Given the description of an element on the screen output the (x, y) to click on. 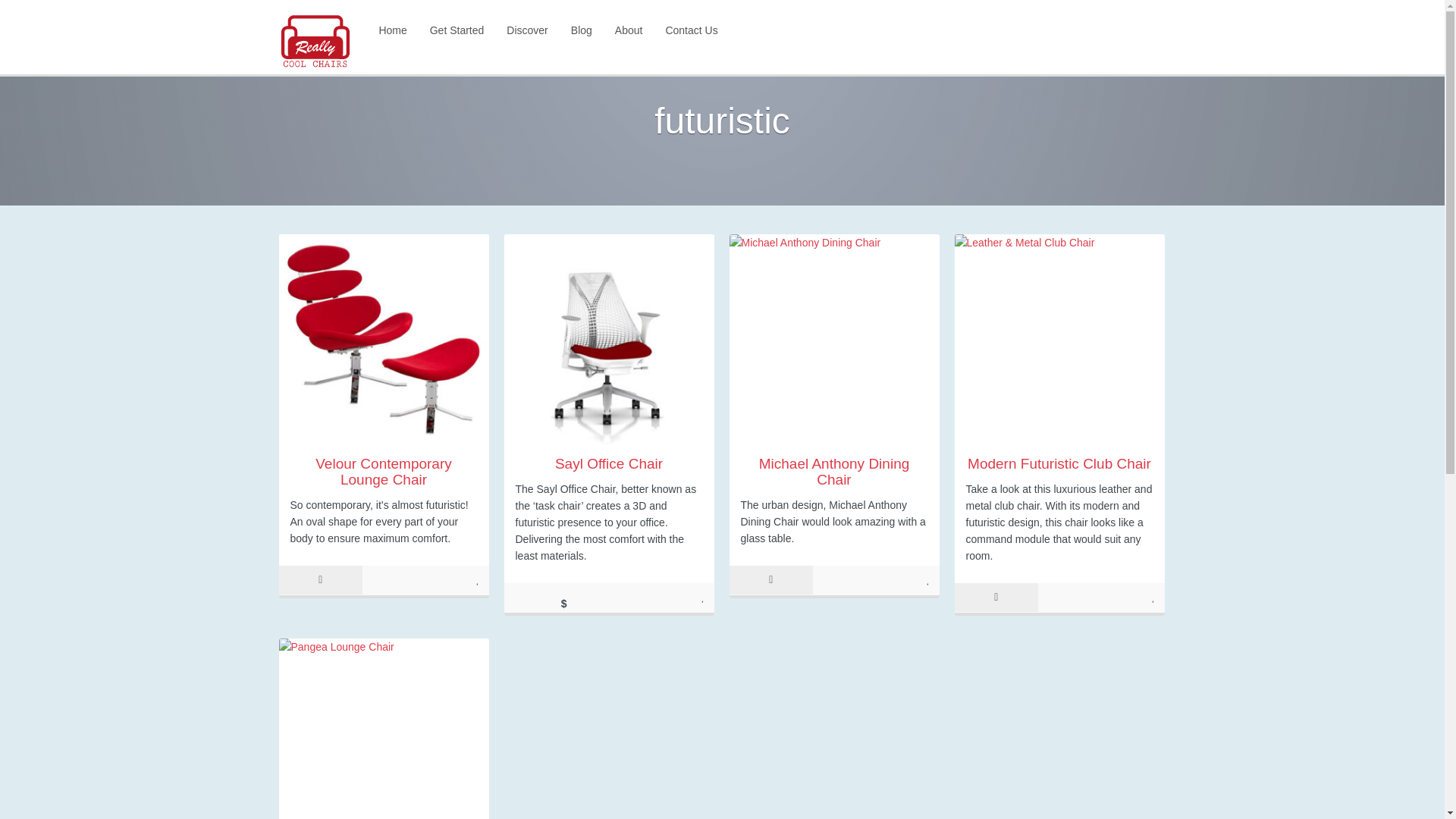
Read our latest posts (581, 29)
Go to Really Cool Chairs homepage (391, 29)
Blog (581, 29)
Michael Anthony Dining Chair (834, 471)
0 (1153, 596)
0 (478, 579)
Learn more about Really Cool Chairs (628, 29)
About (628, 29)
Sayl Office Chair (608, 463)
0 (928, 579)
Contact Us (691, 29)
Get Started on your search for Cool Chairs (457, 29)
Get Started (457, 29)
Home (391, 29)
Contact the Really Cool Chairs team (691, 29)
